Given the description of an element on the screen output the (x, y) to click on. 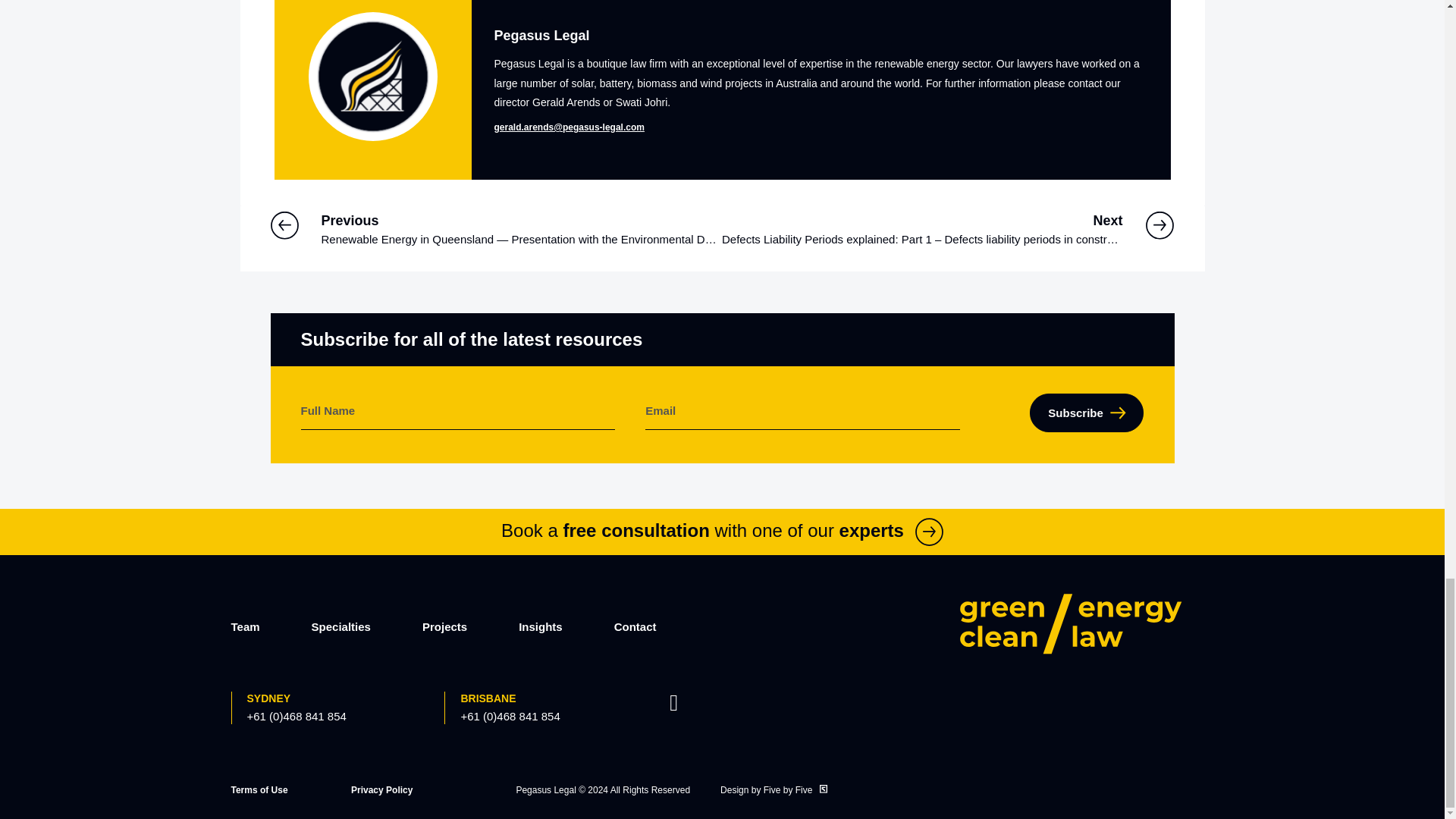
Subscribe (1085, 412)
Design by Five by Five (773, 789)
Book a free consultation with one of our experts (721, 530)
Privacy Policy (381, 789)
Projects (444, 626)
Contact (635, 626)
Terms of Use (258, 789)
Insights (540, 626)
Subscribe (1085, 412)
Specialties (341, 626)
Team (244, 626)
